Given the description of an element on the screen output the (x, y) to click on. 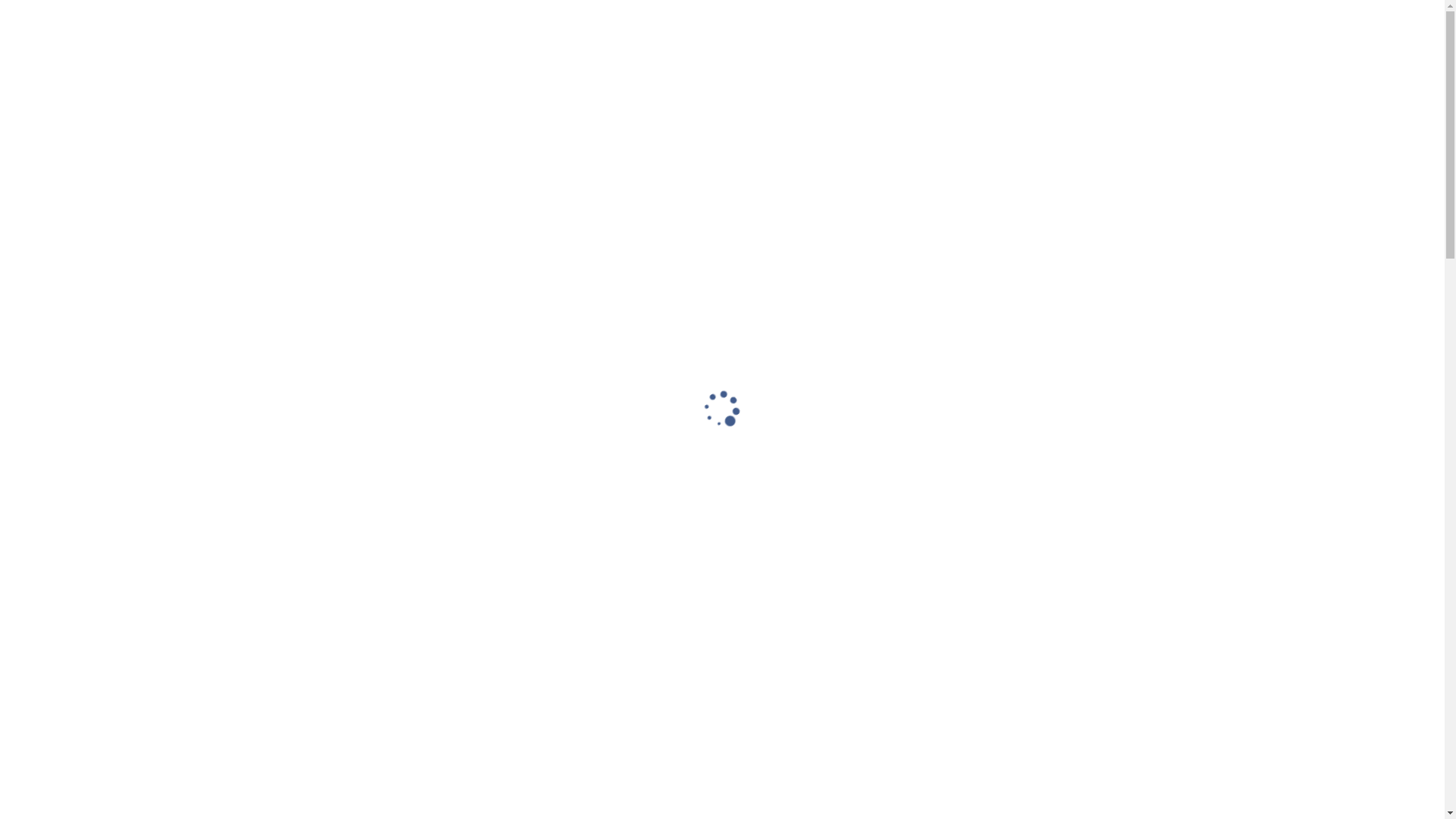
ELECTRONICS Element type: text (706, 77)
Home Element type: text (464, 390)
DIGITAL MEDIA SYSTEMS Element type: text (959, 77)
Farrier Accessories: Essential Tools for Equine Hoof Care Element type: text (1129, 749)
Tips for Evaluating the Quality of Timber Furniture Element type: text (1126, 789)
Technology Innovation Element type: text (300, 67)
Digital Media Systems Element type: text (572, 390)
HOME Element type: text (621, 77)
GAMING Element type: text (1254, 77)
TECH REVIEWS Element type: text (1160, 77)
GEAR Element type: text (1075, 77)
Skip to content Element type: text (0, 0)
Search Element type: text (1274, 632)
